Given the description of an element on the screen output the (x, y) to click on. 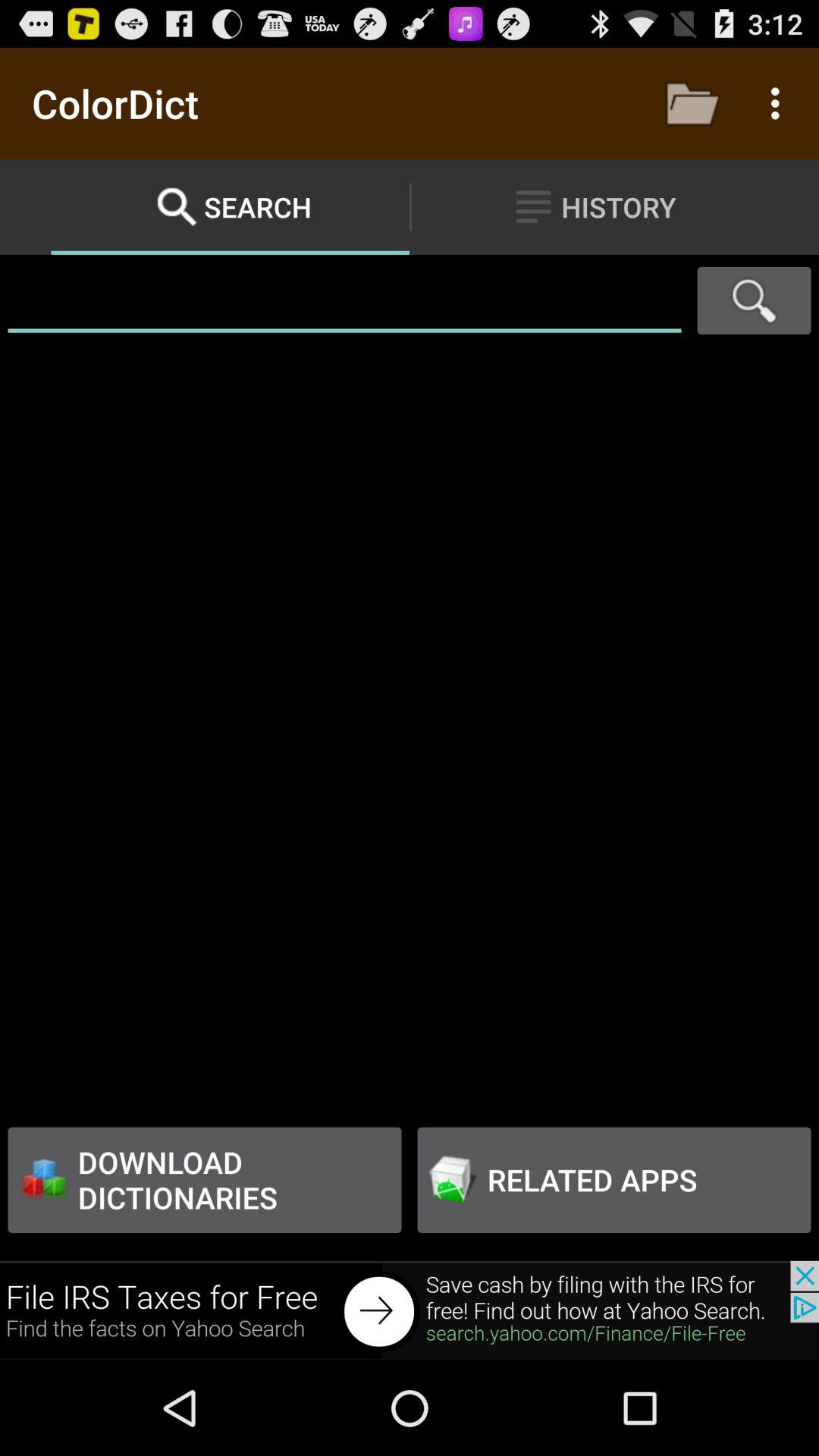
search option (754, 300)
